Given the description of an element on the screen output the (x, y) to click on. 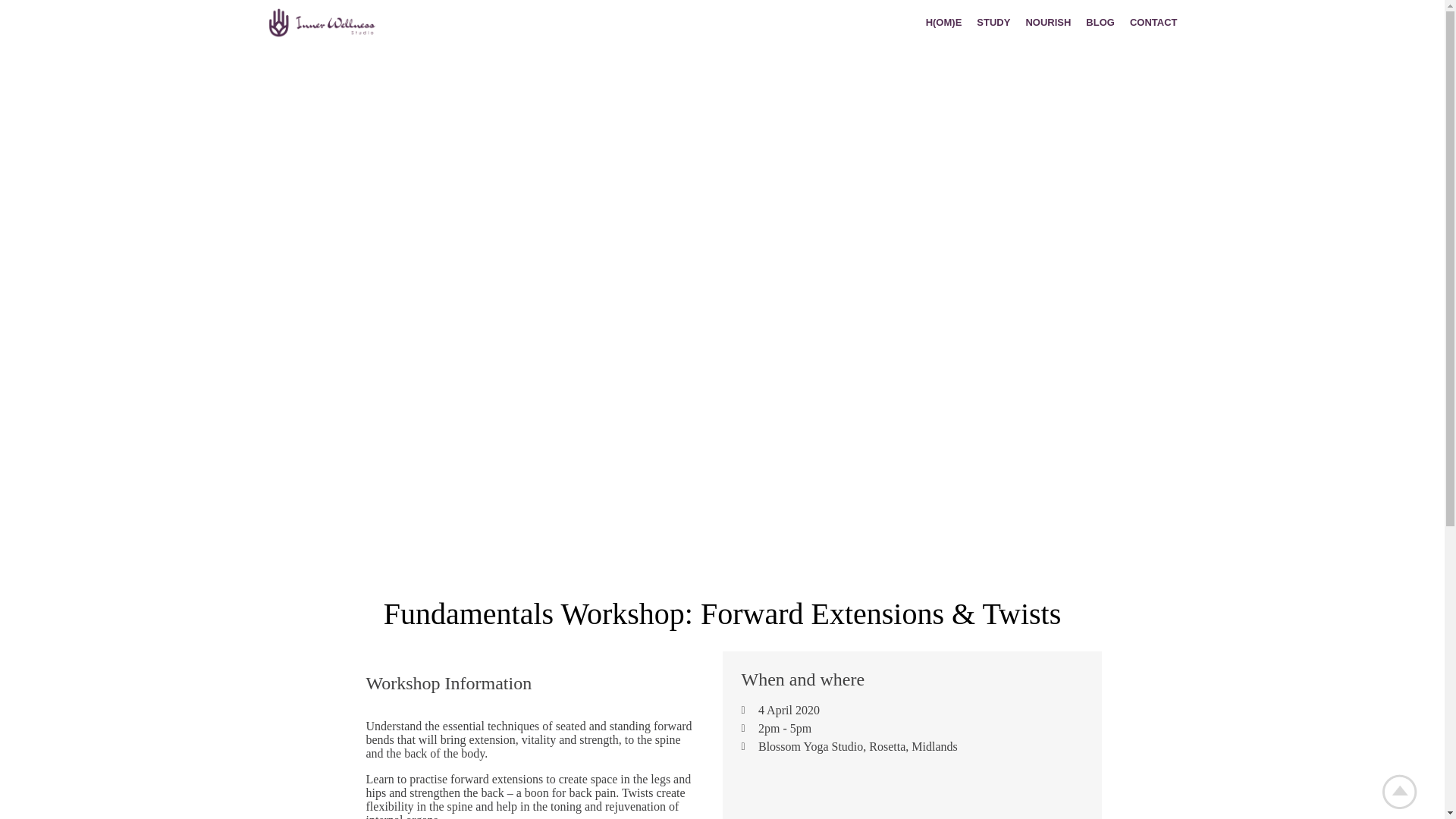
Blossom Yoga Studio, Rosetta, Midlands  (912, 794)
NOURISH (1047, 21)
BLOG (1100, 21)
CONTACT (1149, 21)
STUDY (993, 21)
